Given the description of an element on the screen output the (x, y) to click on. 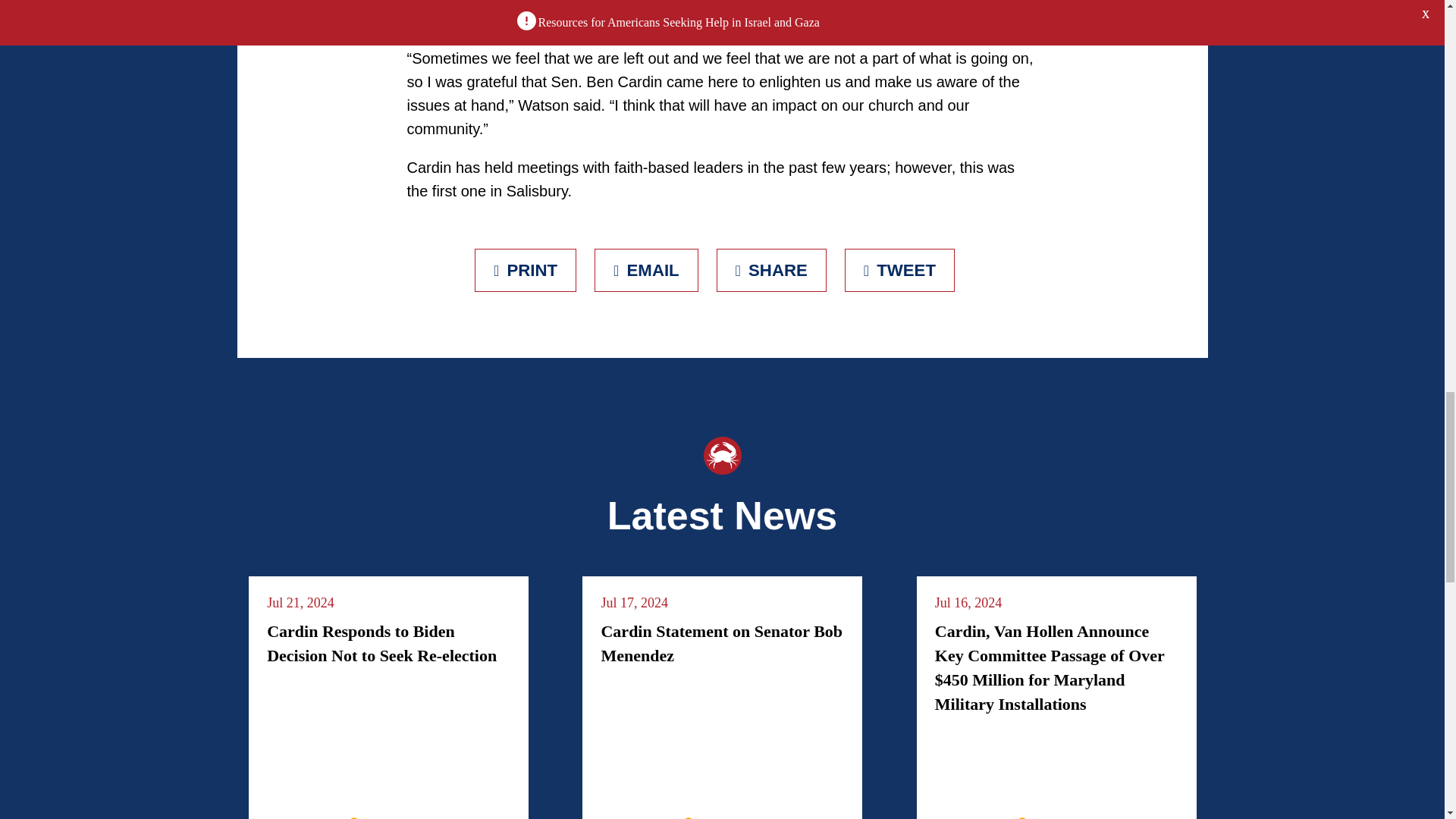
Tweet (899, 269)
Email (646, 269)
Crab (722, 455)
Share on Facebook (771, 269)
Print (525, 269)
